Given the description of an element on the screen output the (x, y) to click on. 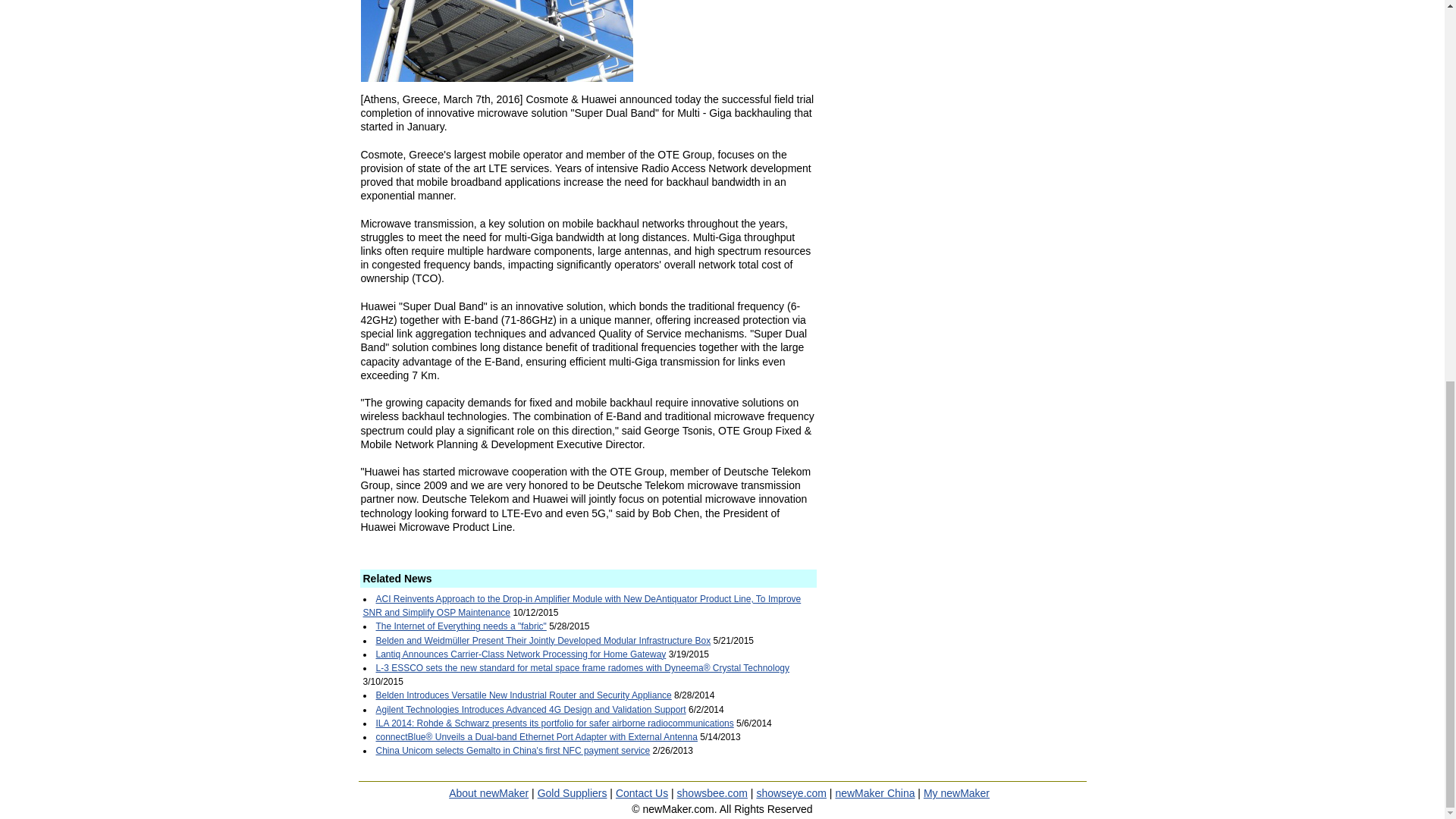
Advertisement (958, 74)
newMaker China (874, 793)
showsbee.com (712, 793)
Advertisement (958, 487)
Contact Us (641, 793)
showseye.com (791, 793)
About newMaker (488, 793)
